Given the description of an element on the screen output the (x, y) to click on. 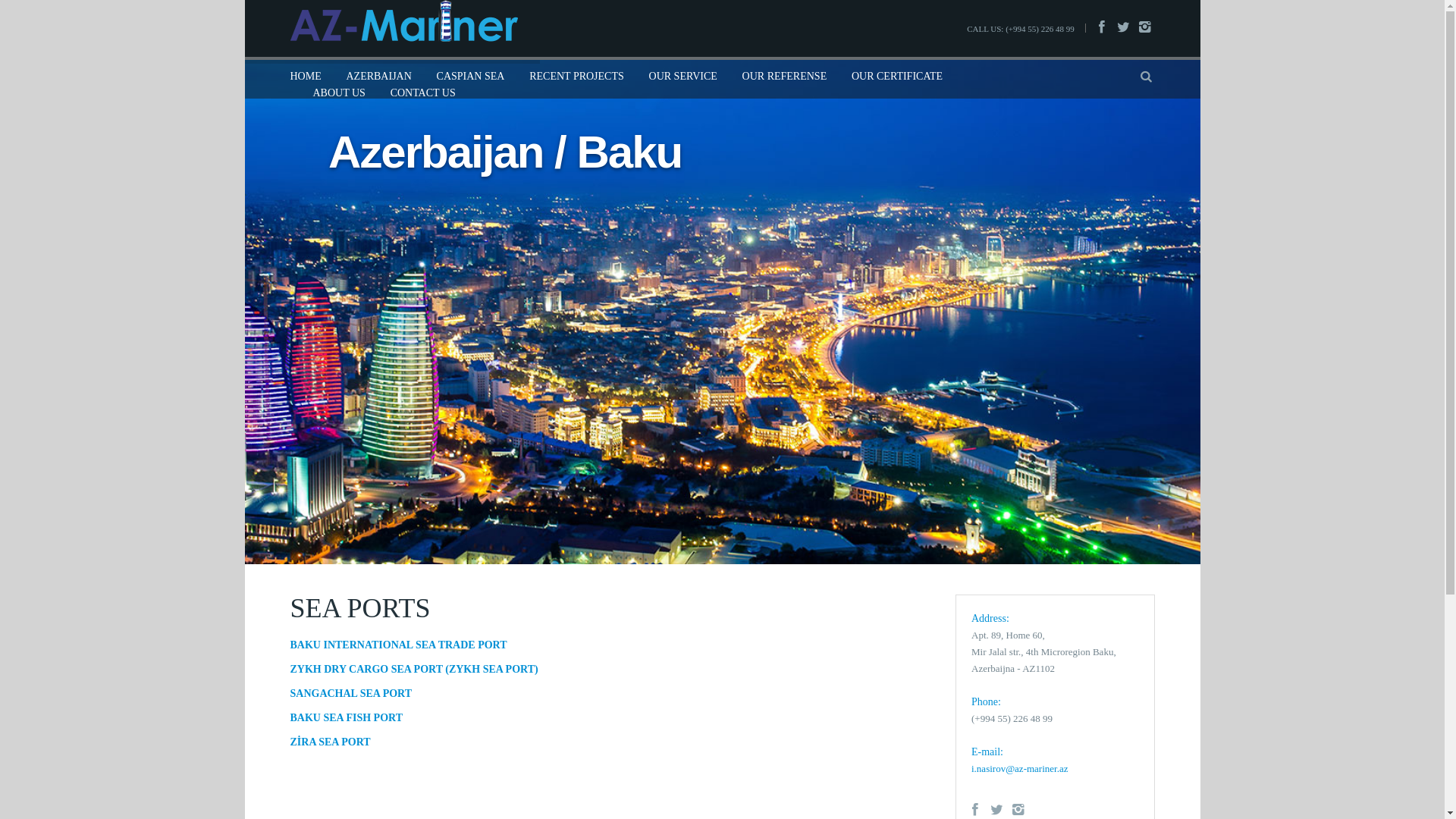
BAKU INTERNATIONAL SEA TRADE PORT Element type: text (397, 644)
AZERBAIJAN Element type: text (378, 76)
Az-Mariner Element type: hover (403, 19)
HOME Element type: text (304, 76)
i.nasirov@az-mariner.az Element type: text (1019, 768)
OUR CERTIFICATE Element type: text (896, 76)
CASPIAN SEA Element type: text (470, 76)
BAKU SEA FISH PORT Element type: text (345, 717)
ABOUT US Element type: text (338, 92)
SANGACHAL SEA PORT Element type: text (350, 693)
RECENT PROJECTS Element type: text (576, 76)
ZYKH DRY CARGO SEA PORT (ZYKH SEA PORT) Element type: text (413, 668)
OUR SERVICE Element type: text (683, 76)
OUR REFERENSE Element type: text (784, 76)
CONTACT US Element type: text (422, 92)
